Given the description of an element on the screen output the (x, y) to click on. 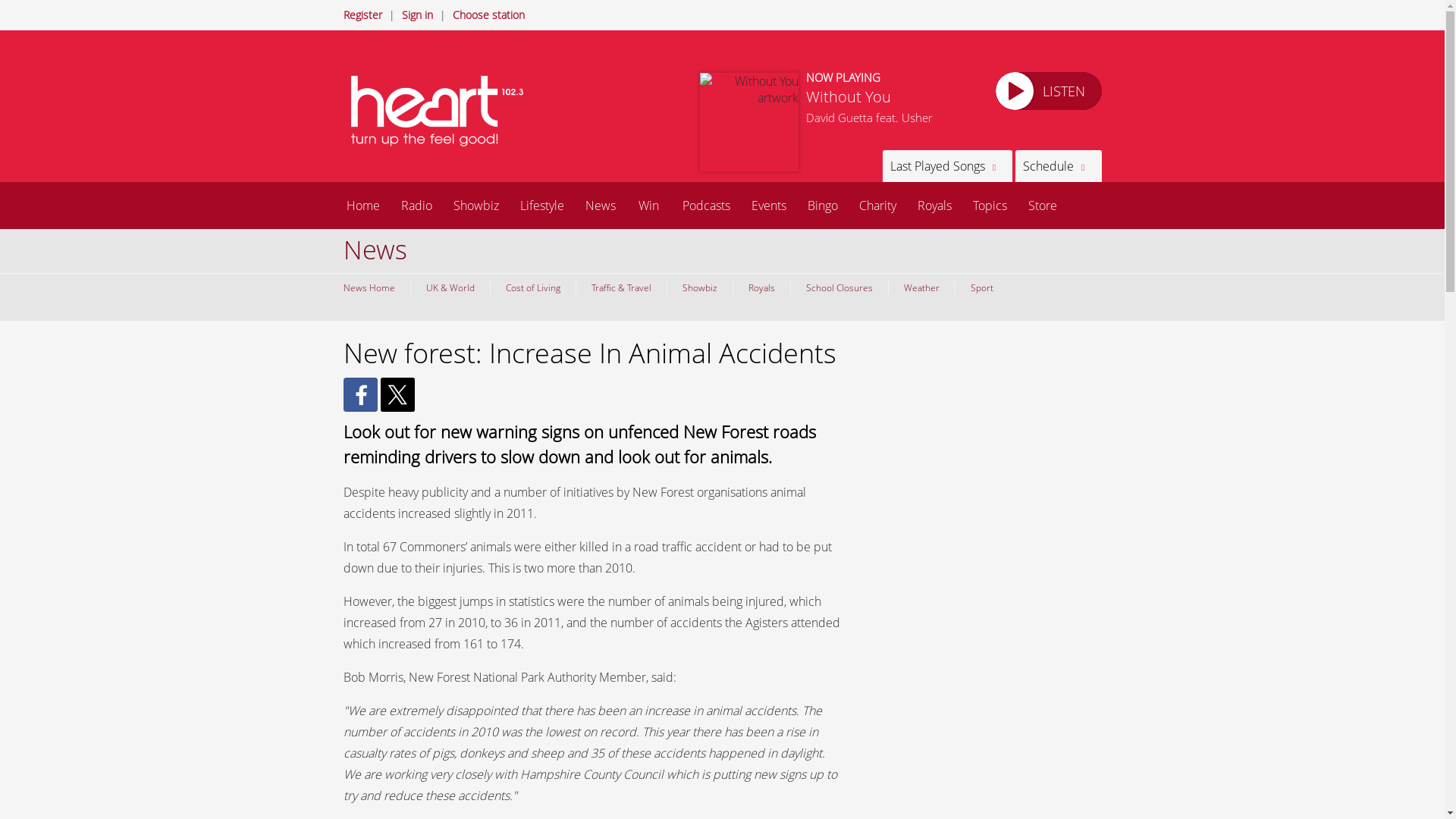
Schedule (1057, 165)
Sport (980, 287)
Bingo (821, 205)
Store (1042, 205)
Charity (876, 205)
Cost of Living (532, 287)
Heart Dorset (441, 111)
Podcasts (706, 205)
Royals (761, 287)
Events (767, 205)
Register (361, 14)
Win (648, 205)
Royals (934, 205)
Sign in (416, 14)
Last Played Songs (946, 165)
